Given the description of an element on the screen output the (x, y) to click on. 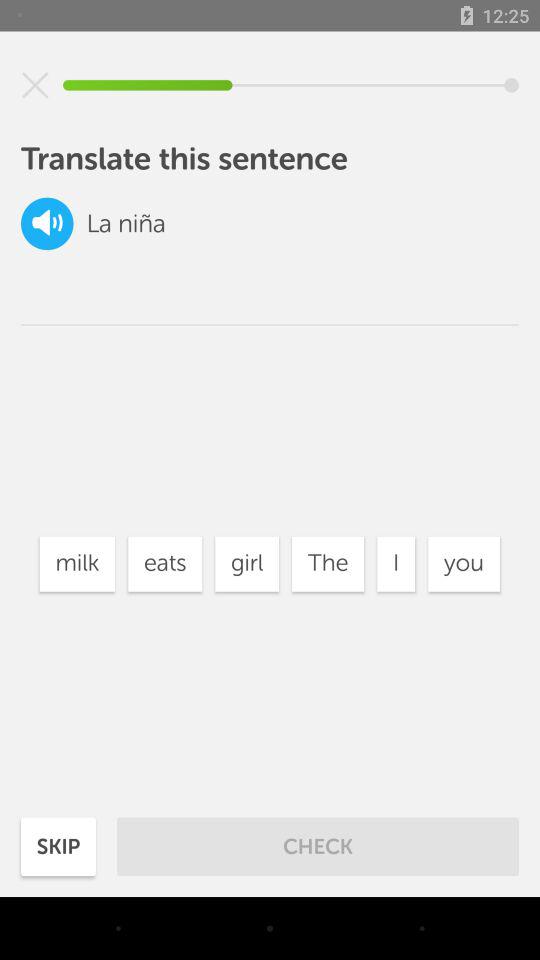
speak to translate (47, 223)
